Given the description of an element on the screen output the (x, y) to click on. 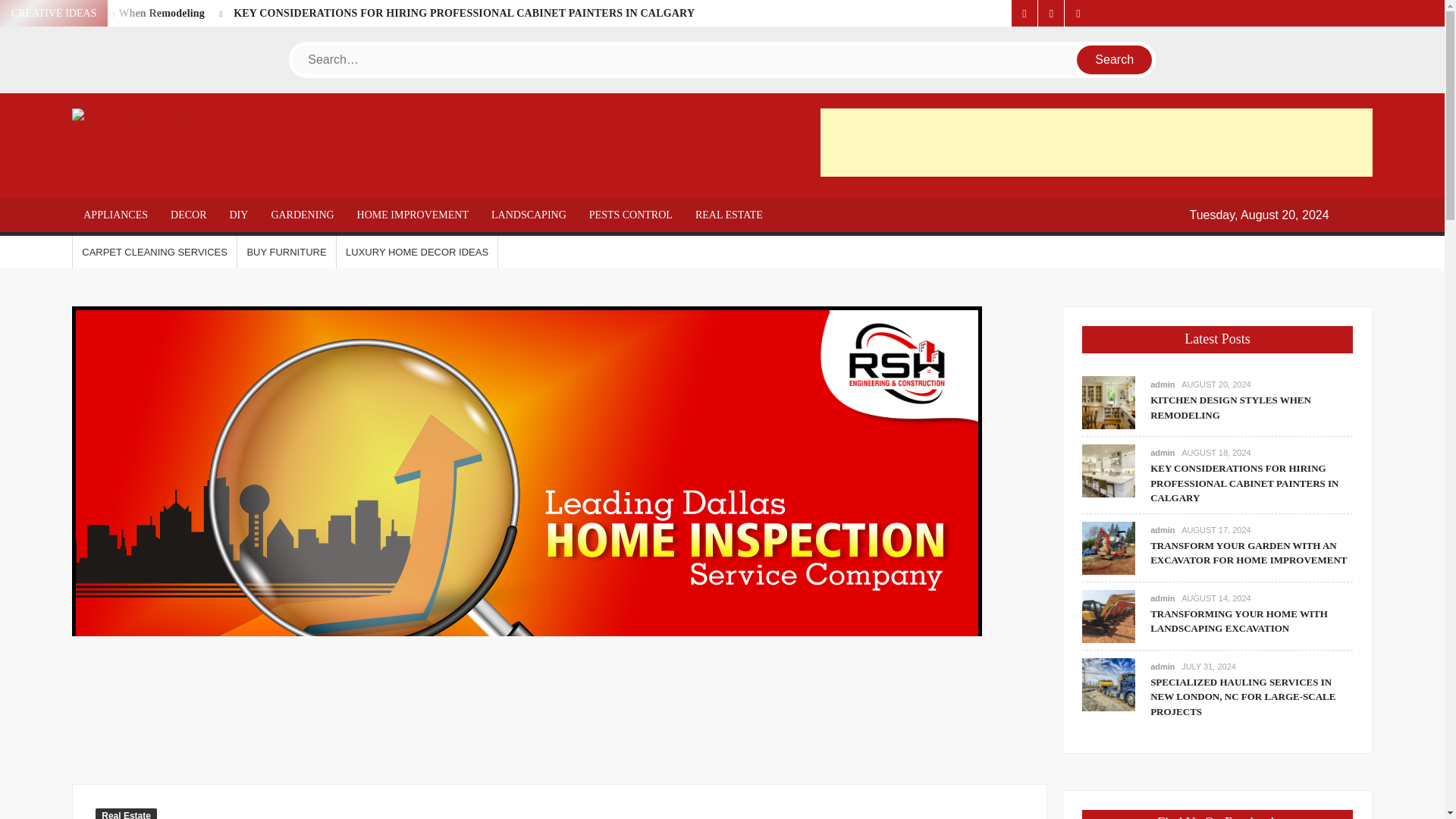
APPLIANCES (114, 214)
Privacy Policy (1077, 13)
Kitchen Design Styles When Remodeling (109, 12)
Advertisement (1097, 142)
Kitchen Design Styles When Remodeling (1108, 400)
Kitchen Design Styles When Remodeling (109, 12)
Search (1115, 59)
CREATIVE HOME (359, 172)
